Given the description of an element on the screen output the (x, y) to click on. 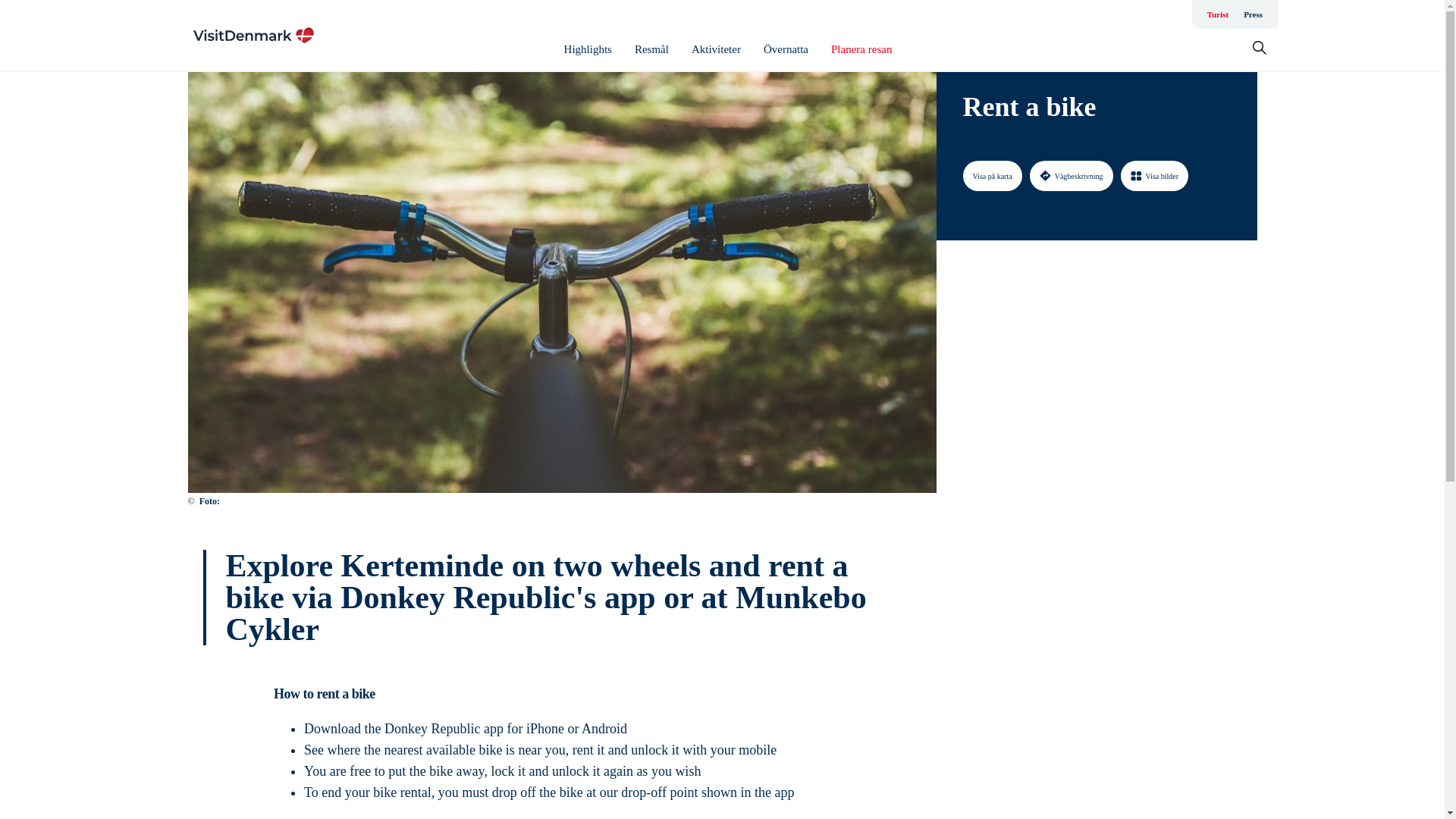
Press (1252, 14)
Go to homepage (253, 35)
Visa bilder (1155, 175)
Planera resan (861, 49)
Turist (1217, 14)
Highlights (587, 49)
Aktiviteter (716, 49)
